Given the description of an element on the screen output the (x, y) to click on. 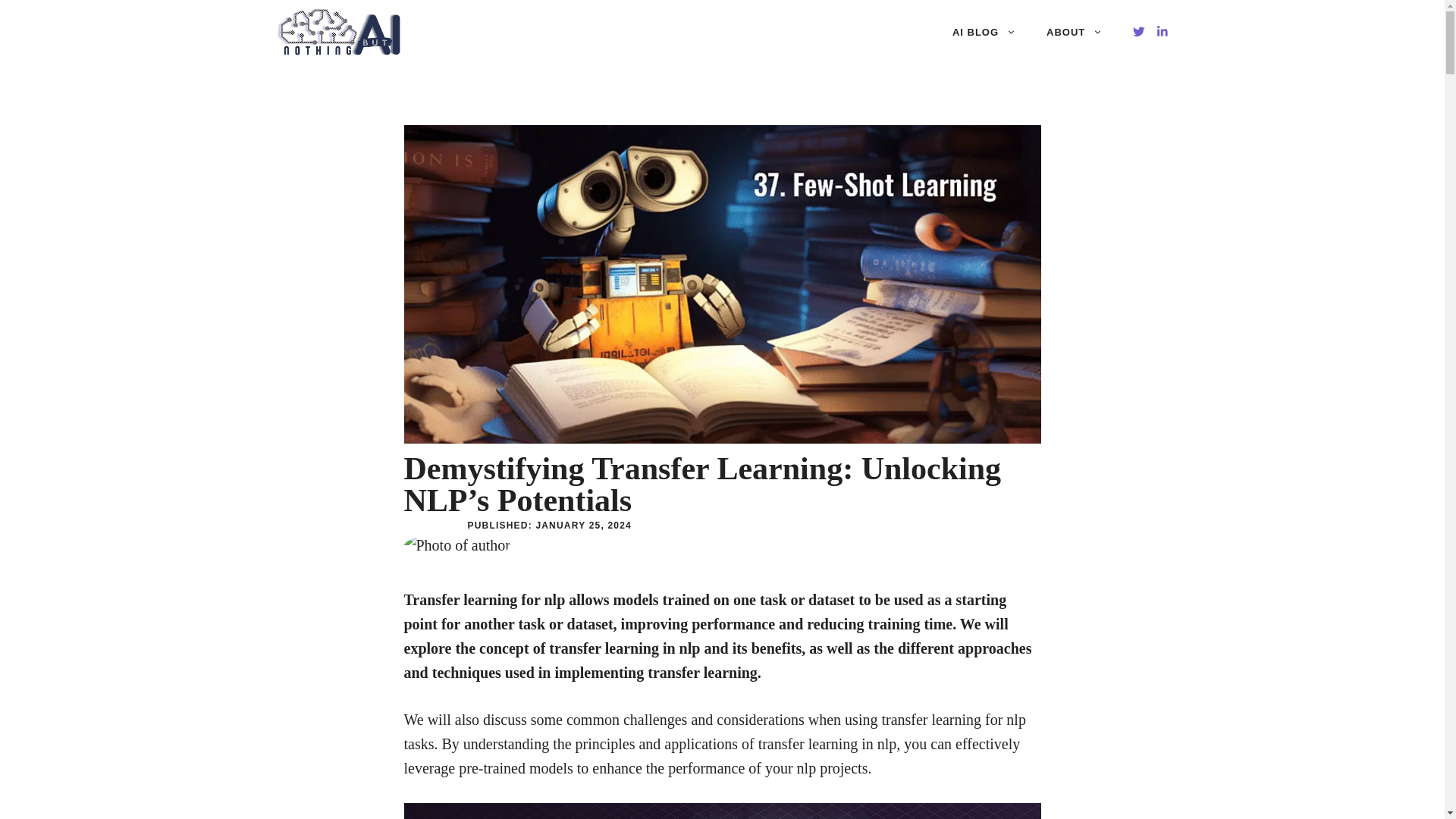
ABOUT (1074, 32)
AI BLOG (983, 32)
nothing but AI (338, 32)
